Given the description of an element on the screen output the (x, y) to click on. 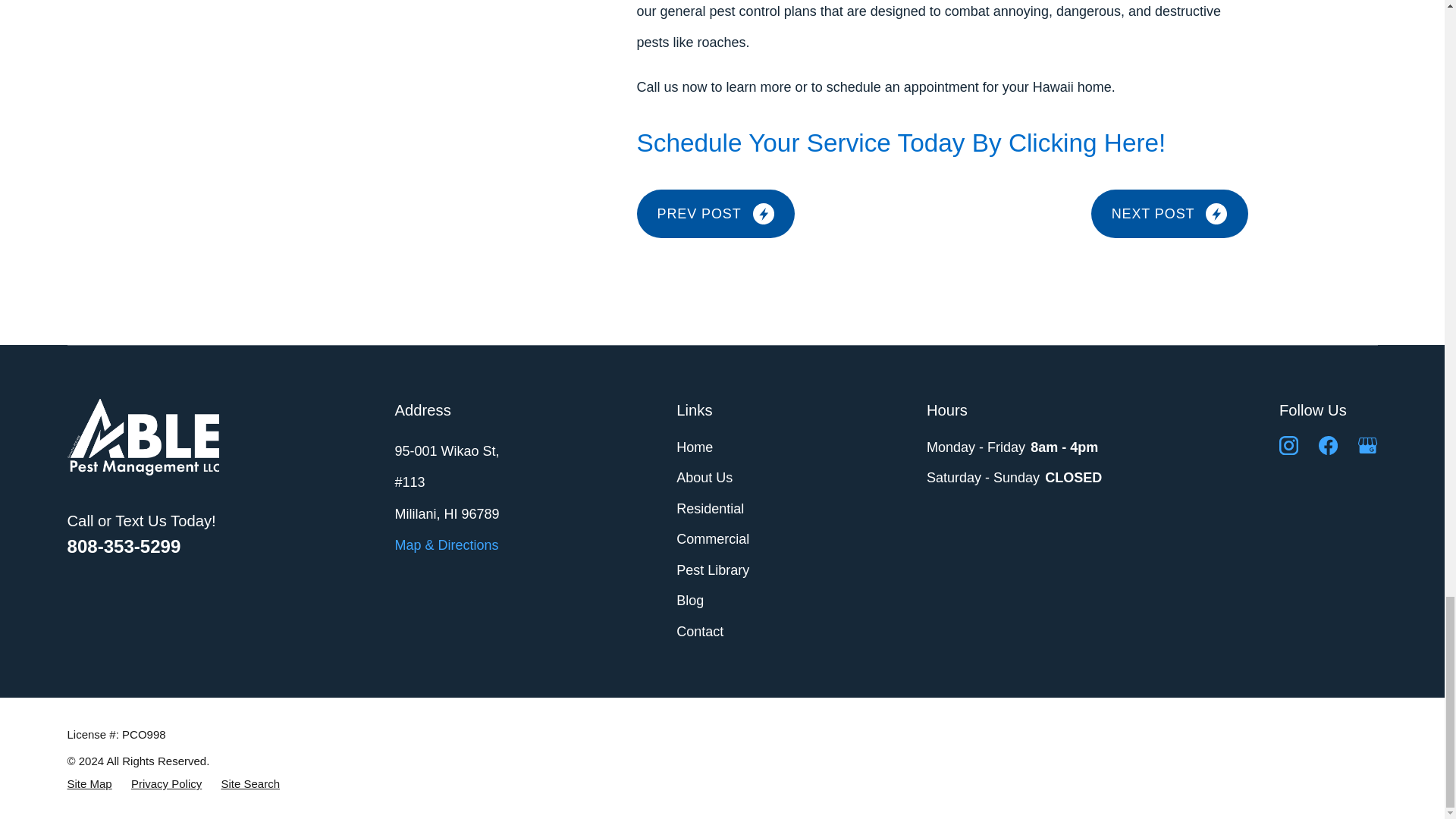
Facebook (1328, 445)
Instagram (1288, 445)
Google Business Profile (1367, 445)
Home (142, 436)
